Given the description of an element on the screen output the (x, y) to click on. 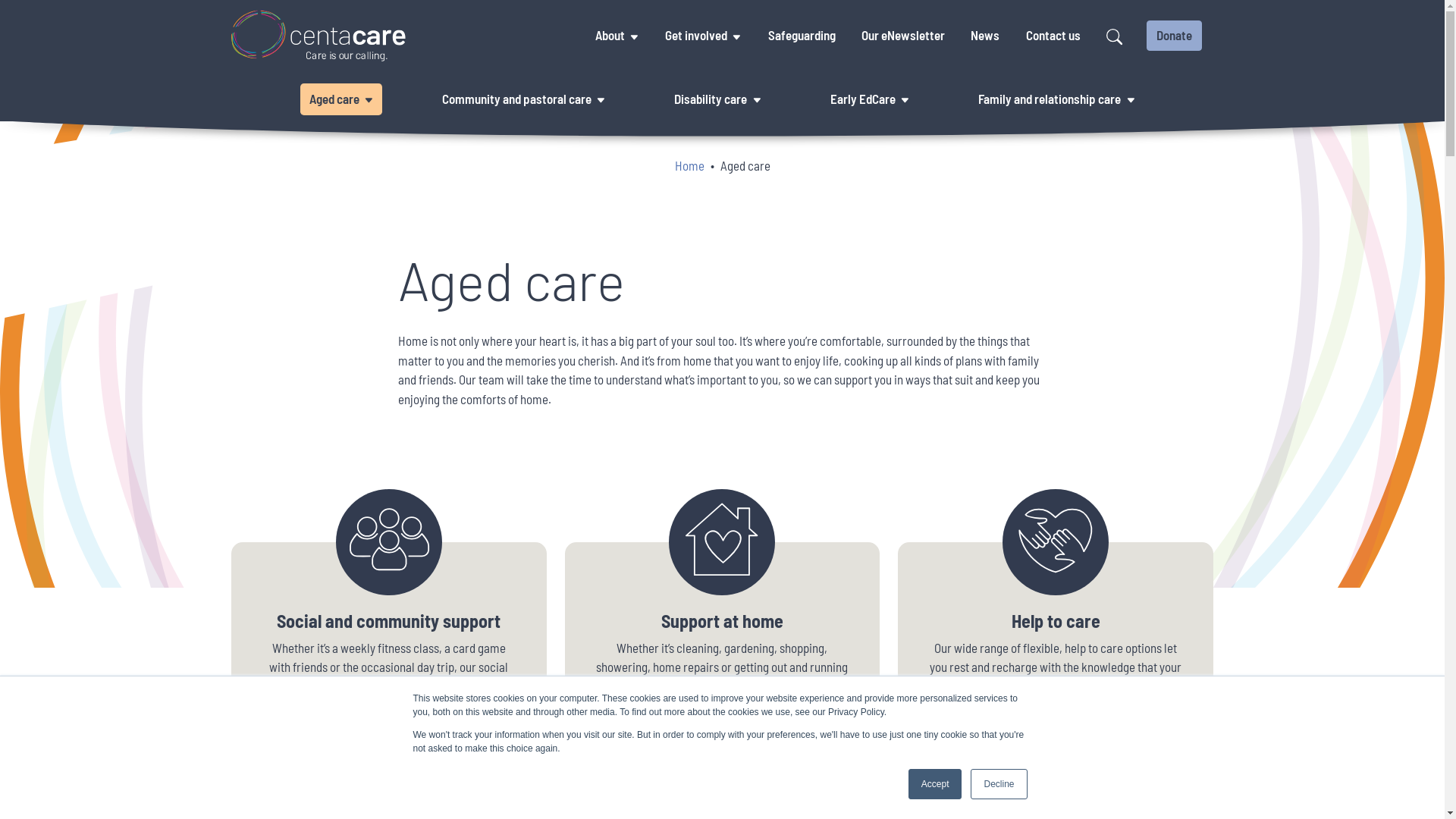
Donate Element type: text (1173, 35)
Disability care Element type: text (710, 99)
Our eNewsletter Element type: text (903, 35)
Home Element type: text (689, 164)
Early EdCare Element type: text (862, 99)
Family and relationship care Element type: text (1049, 99)
Safeguarding Element type: text (801, 35)
About Element type: text (609, 35)
Get involved Element type: text (695, 35)
Aged care Element type: text (333, 99)
Community and pastoral care Element type: text (516, 99)
News Element type: text (984, 35)
Contact us Element type: text (1052, 35)
